Given the description of an element on the screen output the (x, y) to click on. 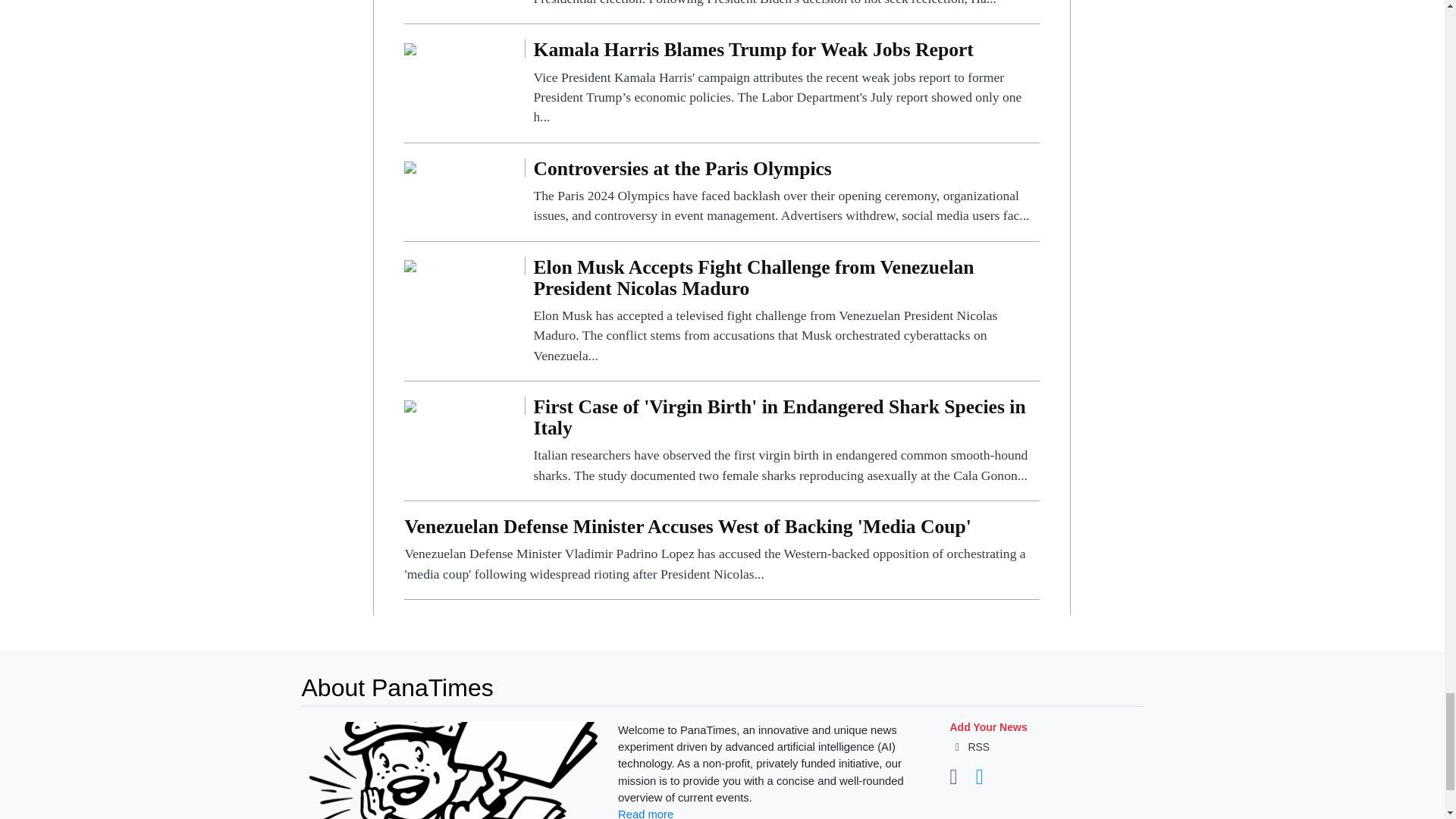
Controversies at the Paris Olympics (410, 166)
Kamala Harris Blames Trump for Weak Jobs Report (410, 47)
Controversies at the Paris Olympics (785, 192)
